Given the description of an element on the screen output the (x, y) to click on. 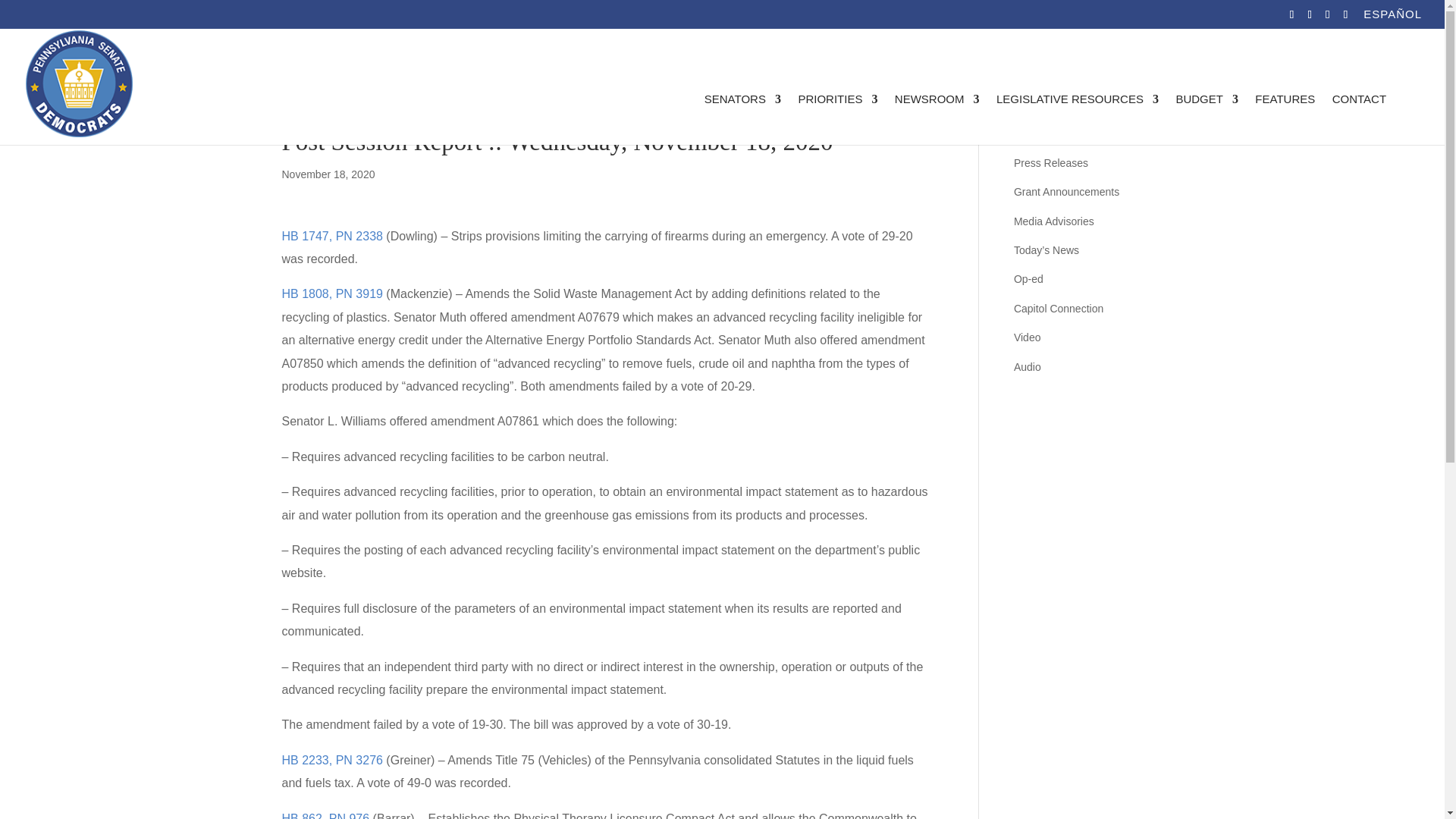
LEGISLATIVE RESOURCES (1076, 119)
SENATORS (742, 119)
PRIORITIES (837, 119)
NEWSROOM (937, 119)
